Given the description of an element on the screen output the (x, y) to click on. 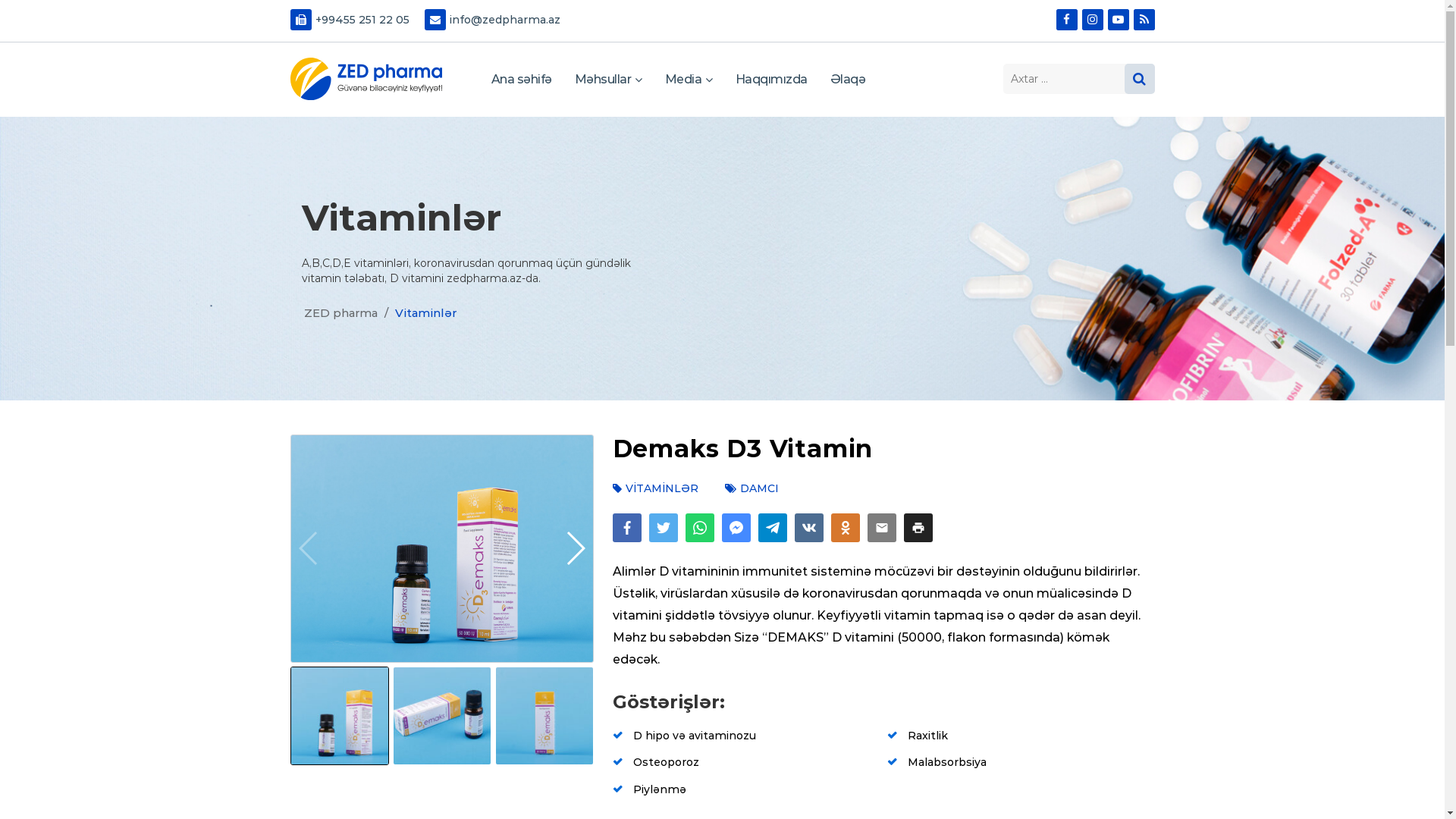
Facebook Element type: hover (1065, 19)
Instagram Element type: hover (1091, 19)
info@zedpharma.az Element type: text (492, 20)
ZED pharma Element type: hover (365, 78)
Media Element type: text (688, 79)
+99455 251 22 05 Element type: text (349, 20)
Axtar Element type: hover (1138, 78)
RSS Element type: hover (1143, 19)
Youtube Element type: hover (1117, 19)
